Given the description of an element on the screen output the (x, y) to click on. 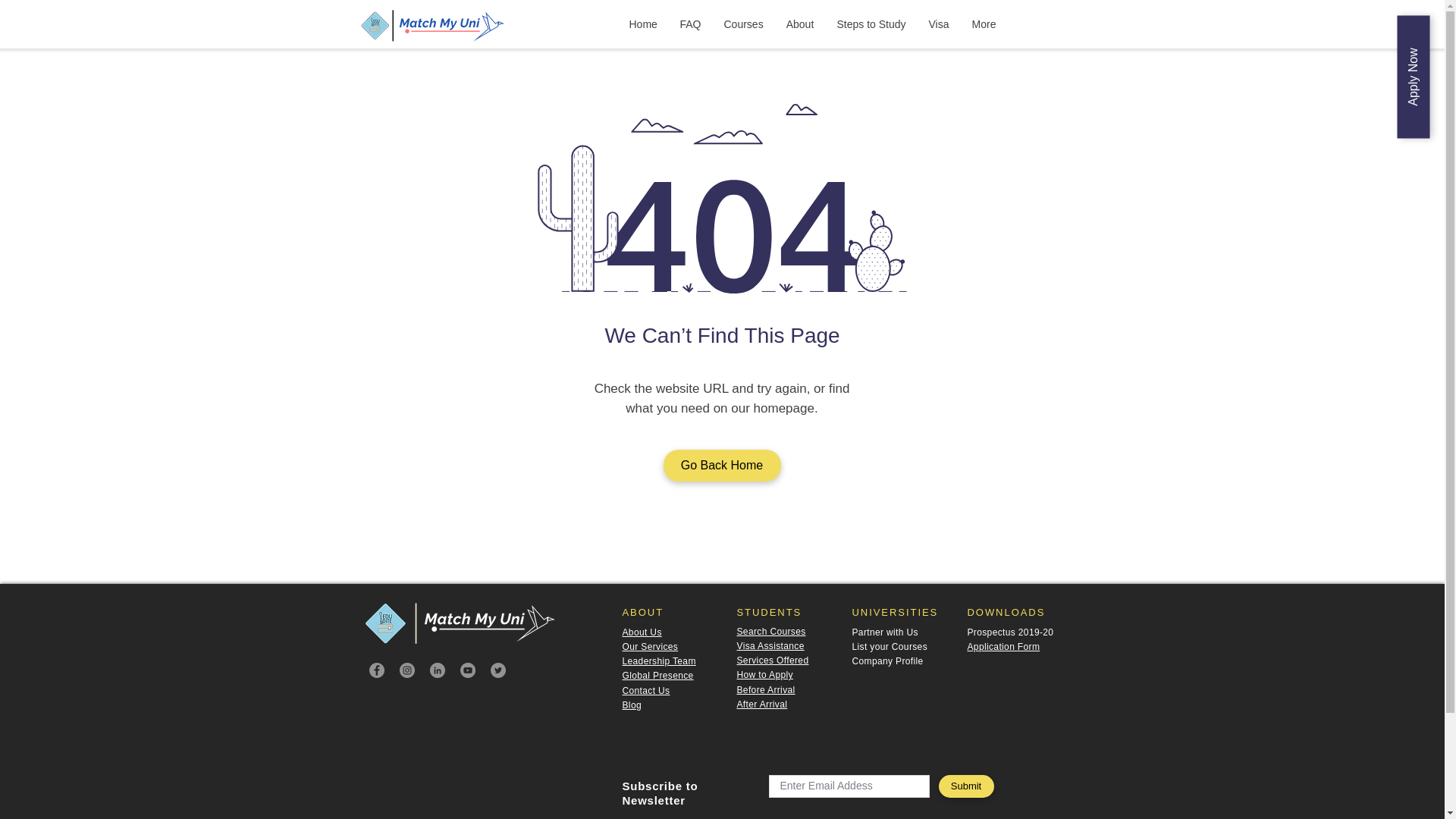
Contact Us (645, 690)
Search Courses (771, 631)
FAQ (690, 23)
Go Back Home (721, 465)
Our Services (649, 646)
Visa (938, 23)
Home (642, 23)
About (799, 23)
Blog (630, 705)
How to Apply (764, 674)
Global Presence (657, 675)
Services Offered (772, 660)
Before Arrival (765, 689)
Visa Assistance (770, 645)
Courses (743, 23)
